Given the description of an element on the screen output the (x, y) to click on. 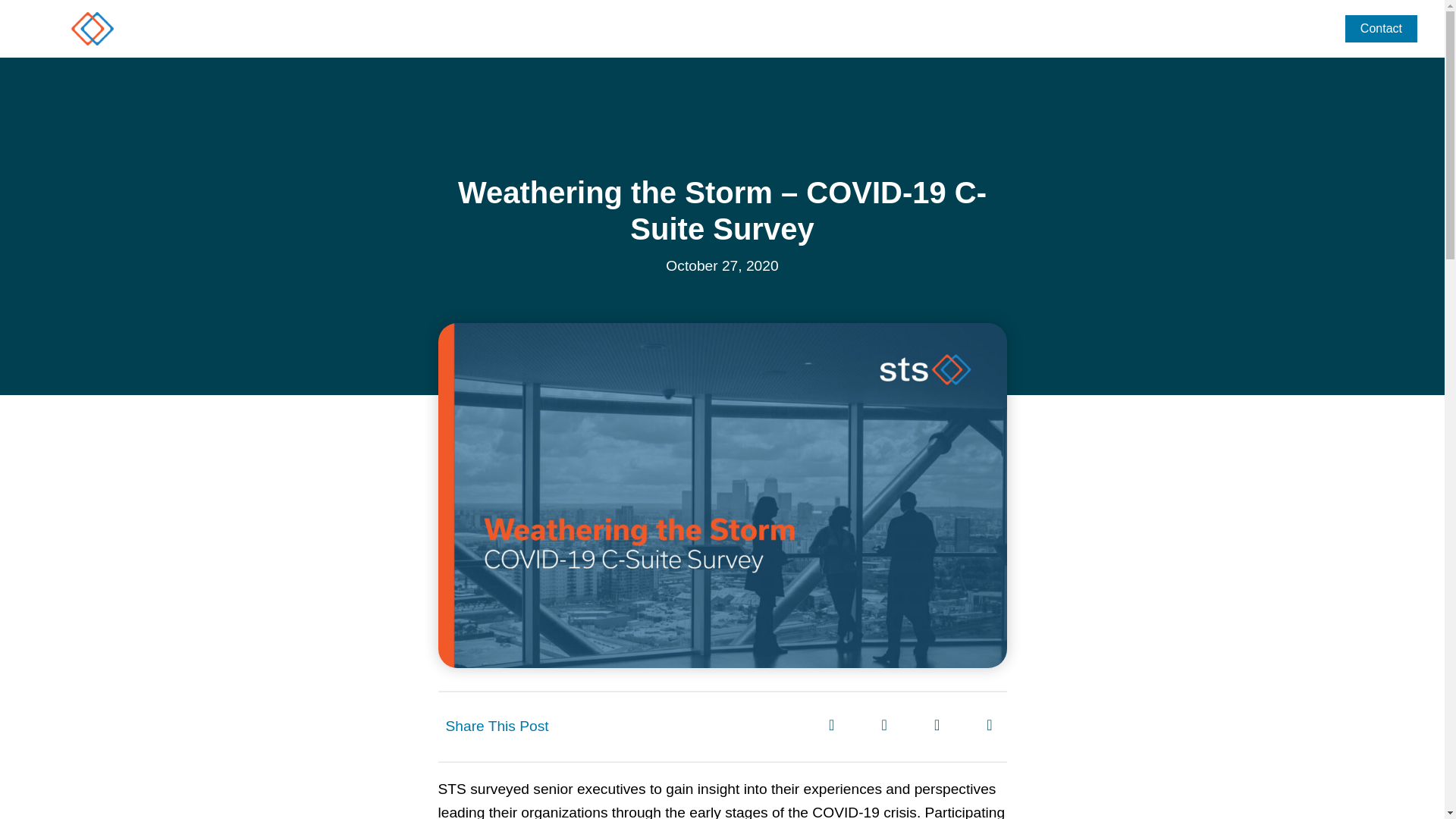
Insights (1299, 28)
Contact (1380, 28)
About (1232, 28)
October 27, 2020 (721, 266)
Services (1160, 28)
